Given the description of an element on the screen output the (x, y) to click on. 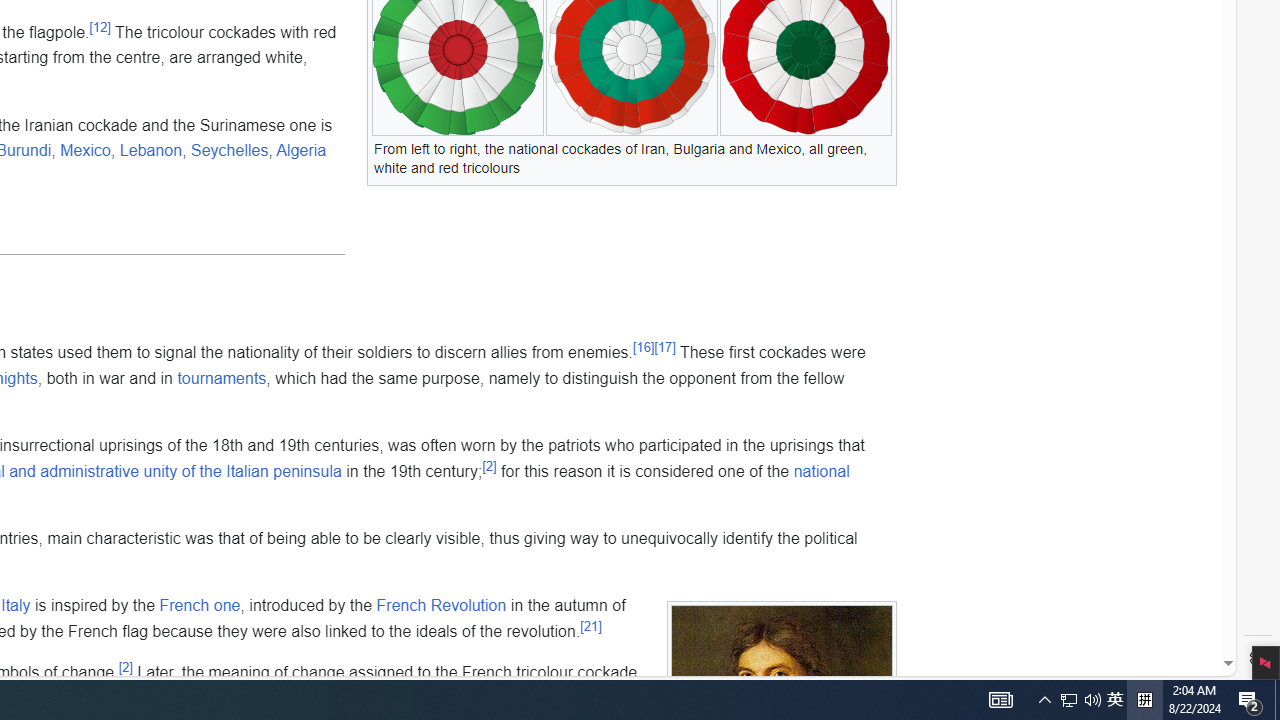
French one (199, 605)
Algeria (301, 150)
[21] (590, 625)
[16] (644, 346)
Seychelles (229, 150)
Lebanon (151, 150)
[2] (125, 666)
[12] (100, 26)
[17] (664, 346)
French Revolution (441, 605)
Mexico (85, 150)
tournaments (221, 377)
